Given the description of an element on the screen output the (x, y) to click on. 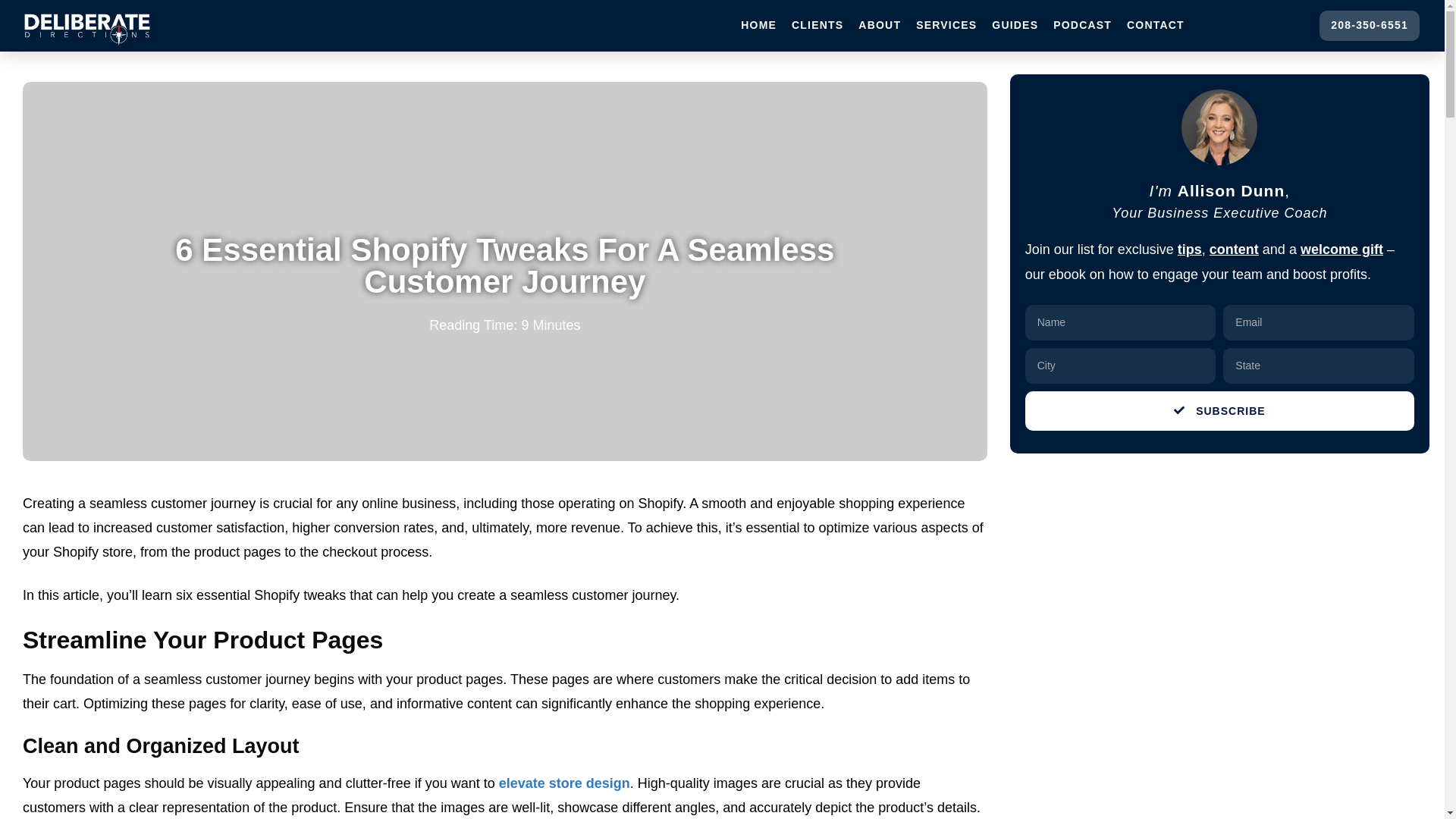
SERVICES (946, 25)
HOME (758, 25)
PODCAST (1082, 25)
GUIDES (1014, 25)
ABOUT (879, 25)
CLIENTS (817, 25)
CONTACT (1155, 25)
